Given the description of an element on the screen output the (x, y) to click on. 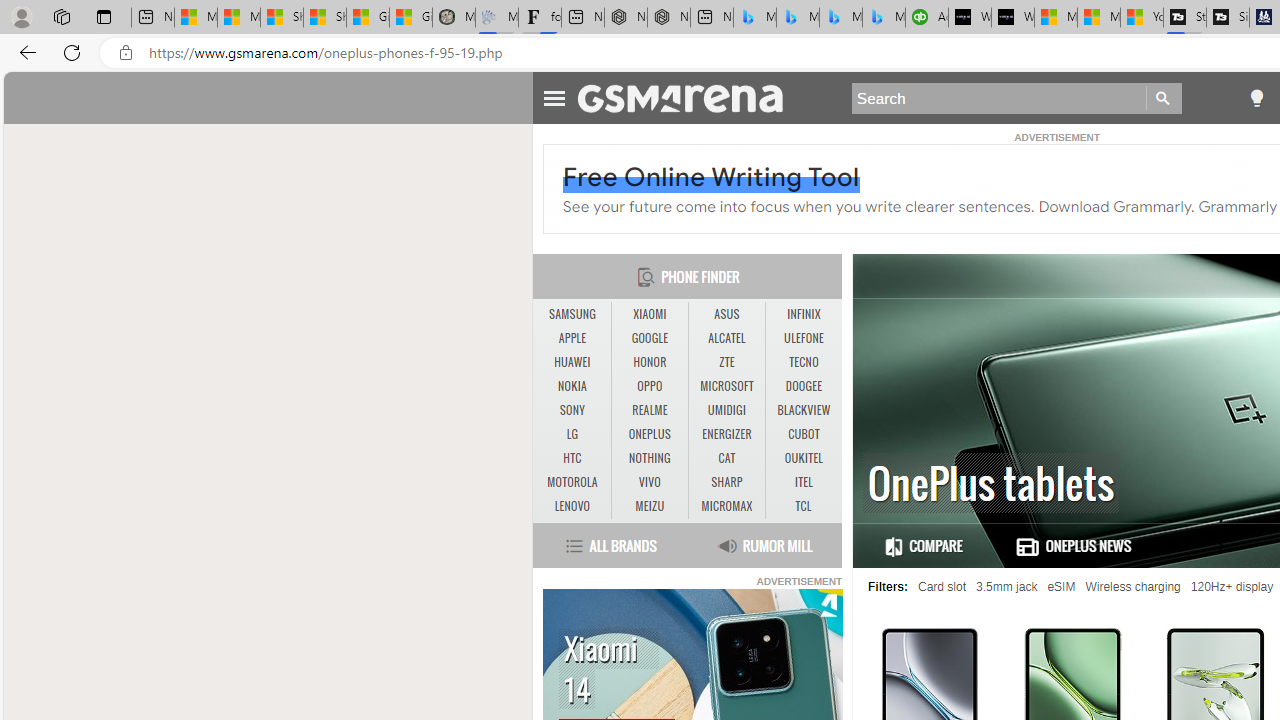
APPLE (571, 339)
SONY (571, 410)
3.5mm jack (1007, 587)
MEIZU (649, 506)
3.5mm jack (1007, 587)
MICROSOFT (726, 385)
APPLE (571, 338)
HUAWEI (571, 362)
BLACKVIEW (803, 411)
Card slot (941, 587)
LG (571, 434)
XIAOMI (649, 313)
